Given the description of an element on the screen output the (x, y) to click on. 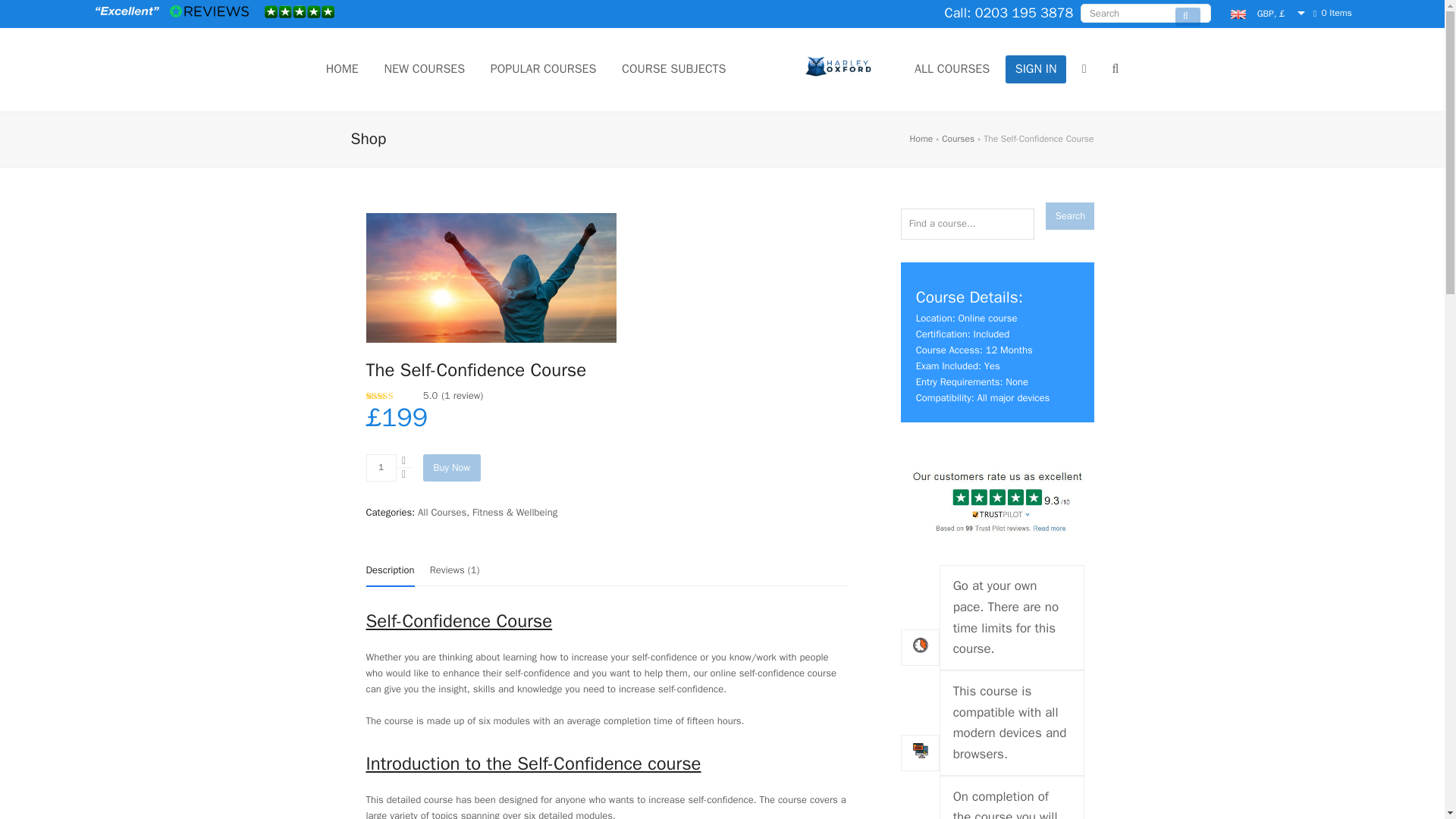
SIGN IN (1035, 69)
Submit (1186, 16)
NEW COURSES (424, 69)
ALL COURSES (952, 69)
HOME (342, 69)
1 (380, 467)
COURSE SUBJECTS (673, 69)
1 review (462, 395)
Qty (380, 467)
Call: 0203 195 3878 (1009, 12)
POPULAR COURSES (542, 69)
self-confidence-course.jpg (490, 277)
0 Items (1332, 13)
